Given the description of an element on the screen output the (x, y) to click on. 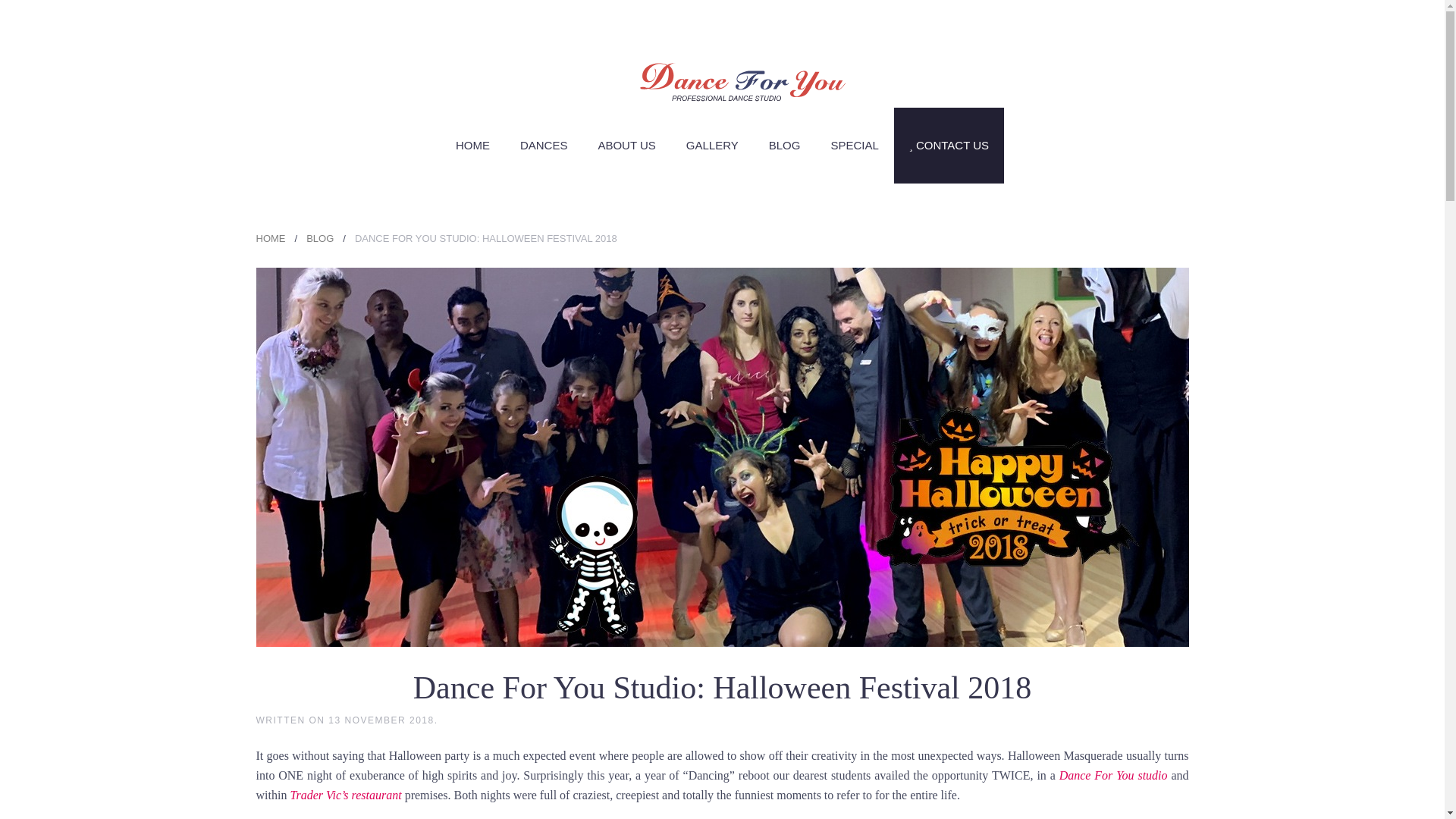
GALLERY (712, 145)
DANCES (544, 145)
ABOUT US (625, 145)
